Given the description of an element on the screen output the (x, y) to click on. 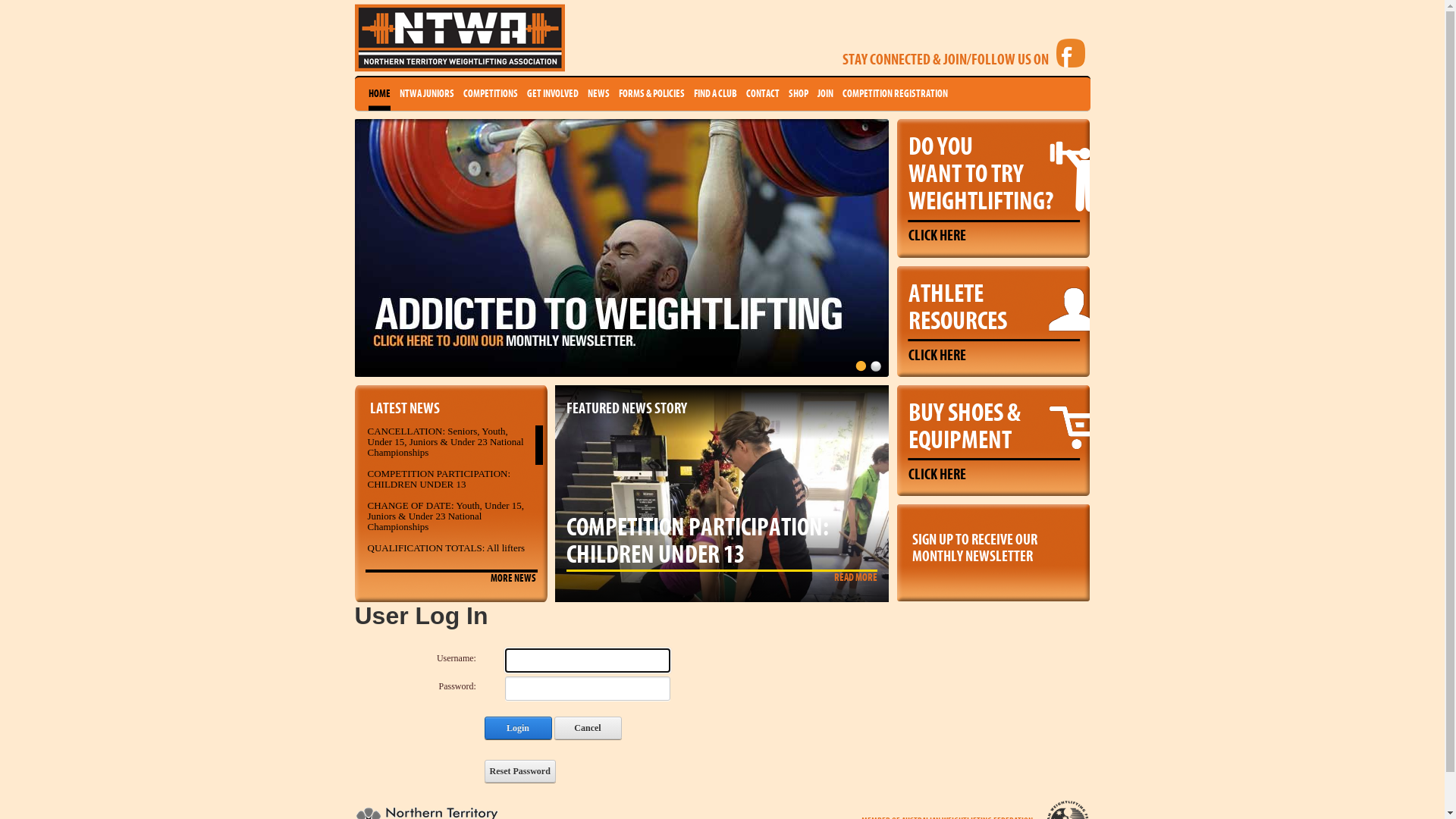
FIND A CLUB Element type: text (714, 93)
COMPETITION REGISTRATION Element type: text (894, 93)
READ MORE Element type: text (855, 577)
Login Element type: text (517, 727)
COMPETITIONS Element type: text (489, 93)
Reset Password Element type: text (519, 770)
SHOP Element type: text (798, 93)
CLICK HERE Element type: text (937, 355)
SIGN UP TO RECEIVE OUR MONTHLY NEWSLETTER Element type: text (992, 544)
JOIN Element type: text (825, 93)
NTWA JUNIORS Element type: text (425, 93)
NEWS Element type: text (597, 93)
Cancel Element type: text (587, 727)
HOME Element type: text (379, 93)
CLICK HERE Element type: text (937, 235)
COMPETITION PARTICIPATION: CHILDREN UNDER 13 Element type: text (438, 478)
CONTACT Element type: text (762, 93)
NTWA Competition July 2020 - RESULTS Element type: text (430, 574)
MORE NEWS Element type: text (512, 578)
FORMS & POLICIES Element type: text (651, 93)
GET INVOLVED Element type: text (551, 93)
CLICK HERE Element type: text (937, 474)
QUALIFICATION TOTALS: All lifters Element type: text (445, 547)
